Given the description of an element on the screen output the (x, y) to click on. 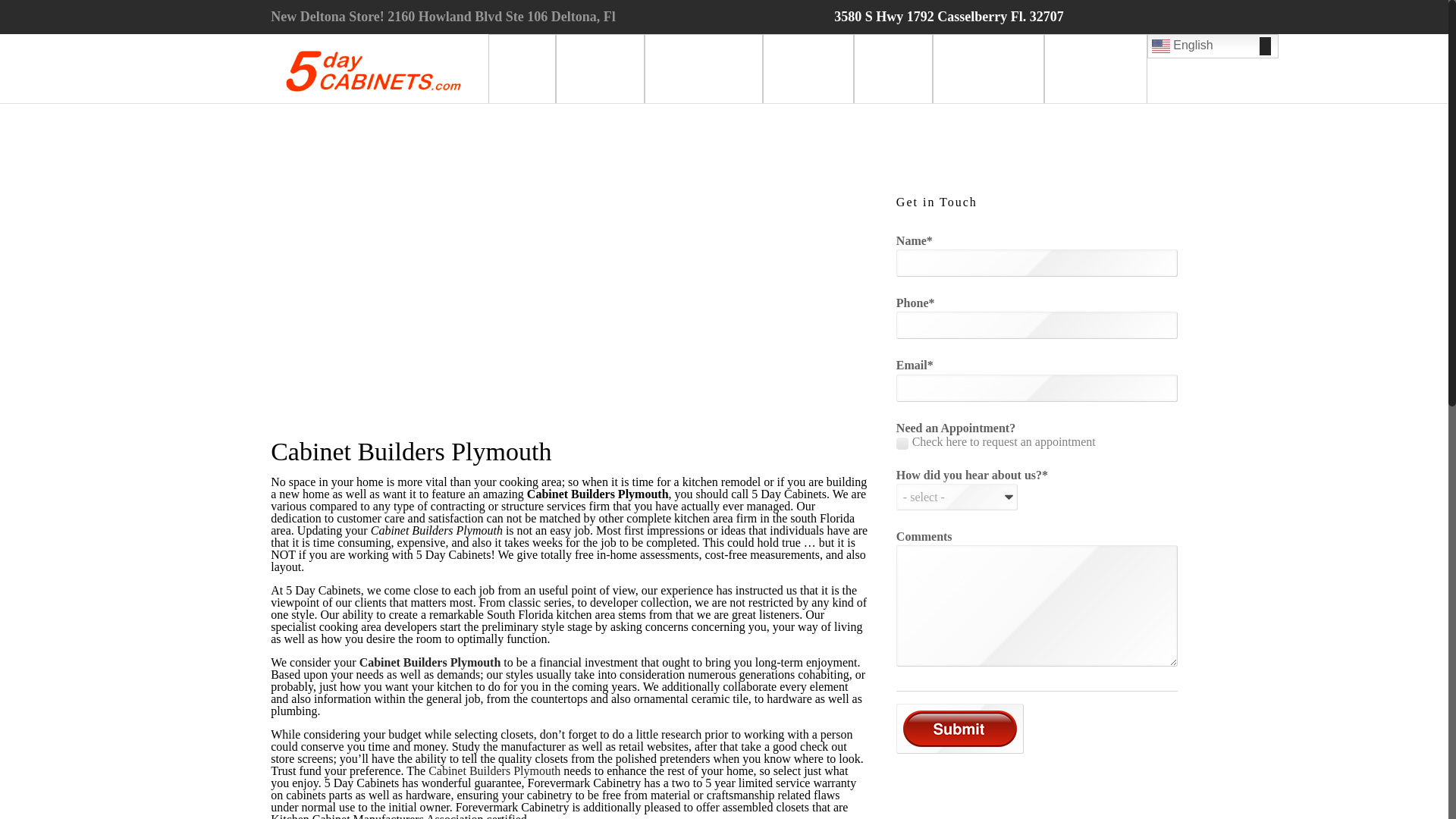
Home (521, 68)
About Us (807, 68)
Quick Quote (988, 68)
Gallery (892, 68)
Contact Us (1095, 68)
Cabinet Builders Plymouth  (495, 770)
Cabinets (600, 68)
English (1212, 46)
Counter Tops (703, 68)
Cabinet Builders Plymouth  (431, 662)
